Given the description of an element on the screen output the (x, y) to click on. 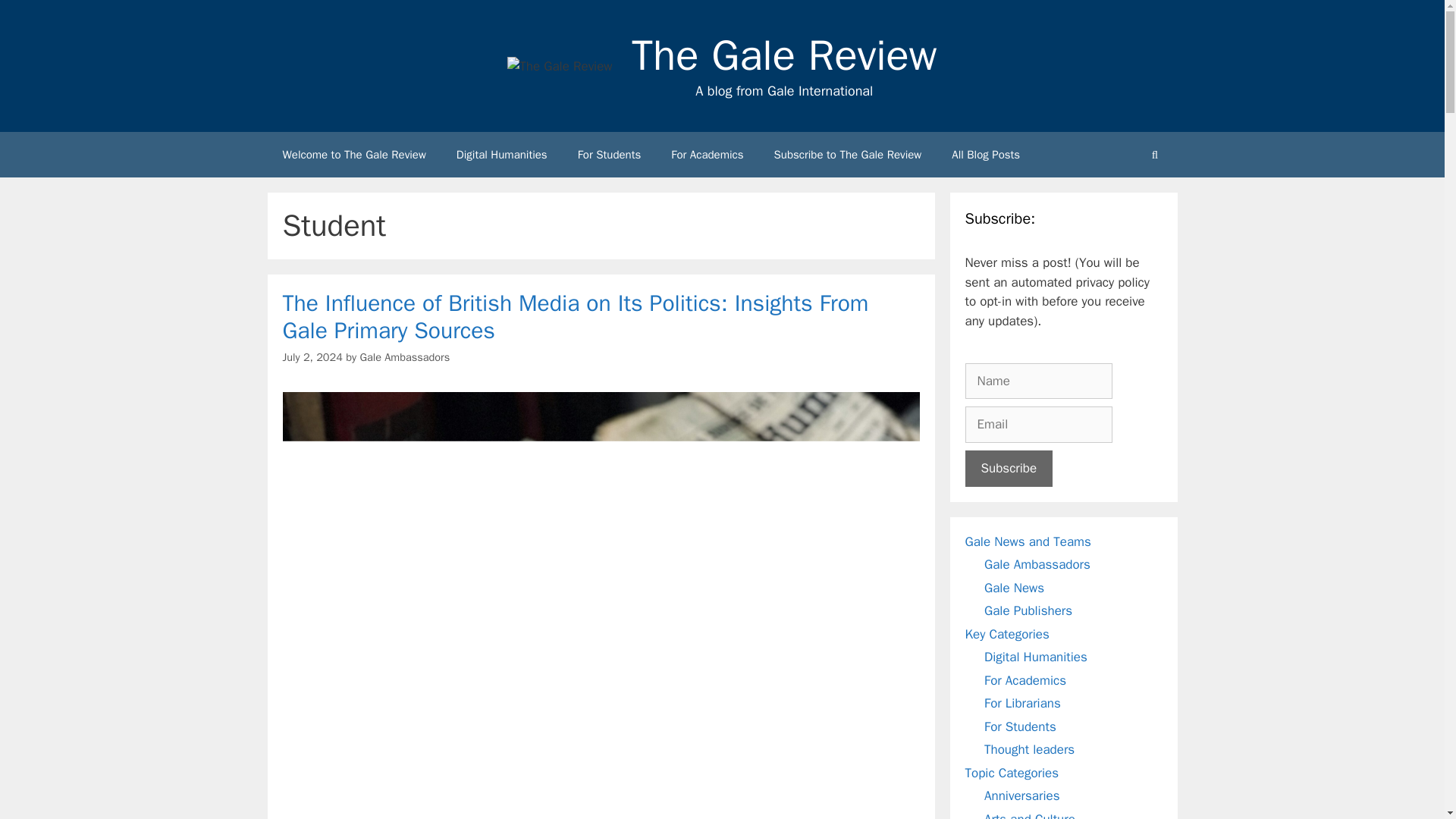
For Students (609, 154)
Welcome to The Gale Review (353, 154)
Subscribe to The Gale Review (847, 154)
Digital Humanities (501, 154)
Subscribe (1007, 468)
For Academics (707, 154)
View all posts by Gale Ambassadors (404, 356)
All Blog Posts (985, 154)
Gale Ambassadors (404, 356)
The Gale Review (784, 55)
